Given the description of an element on the screen output the (x, y) to click on. 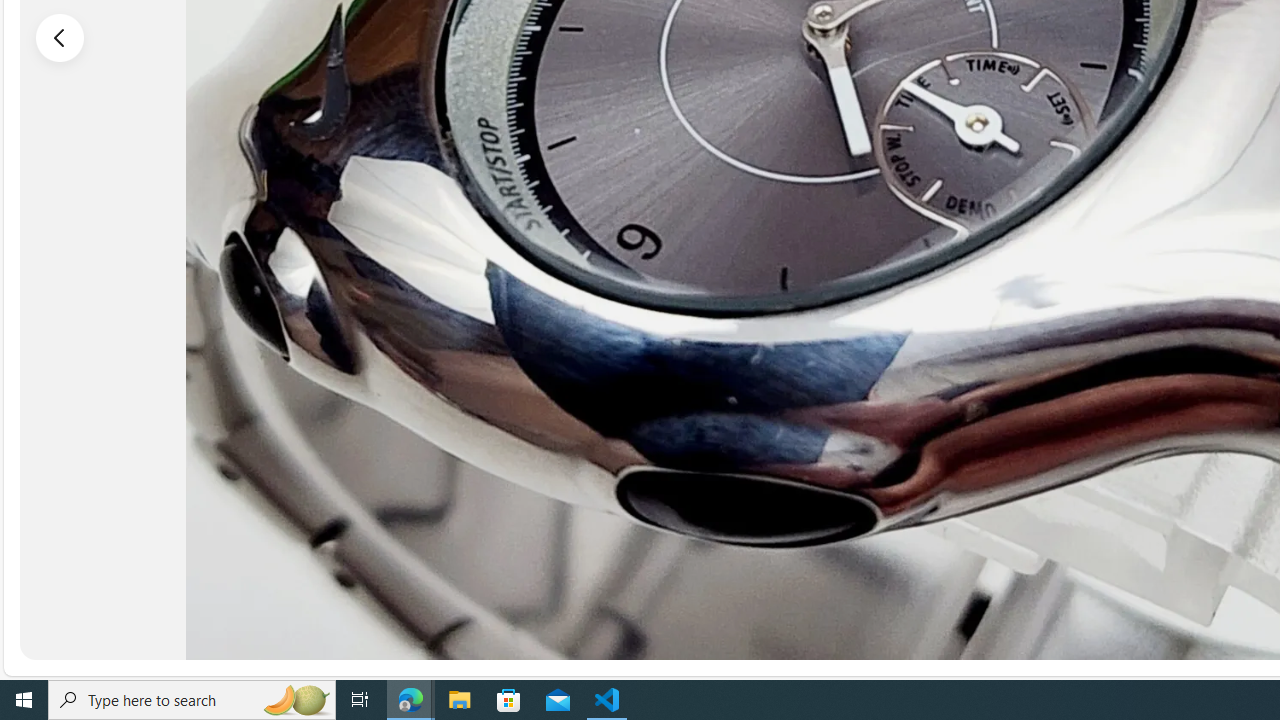
Previous image - Item images thumbnails (59, 37)
